Given the description of an element on the screen output the (x, y) to click on. 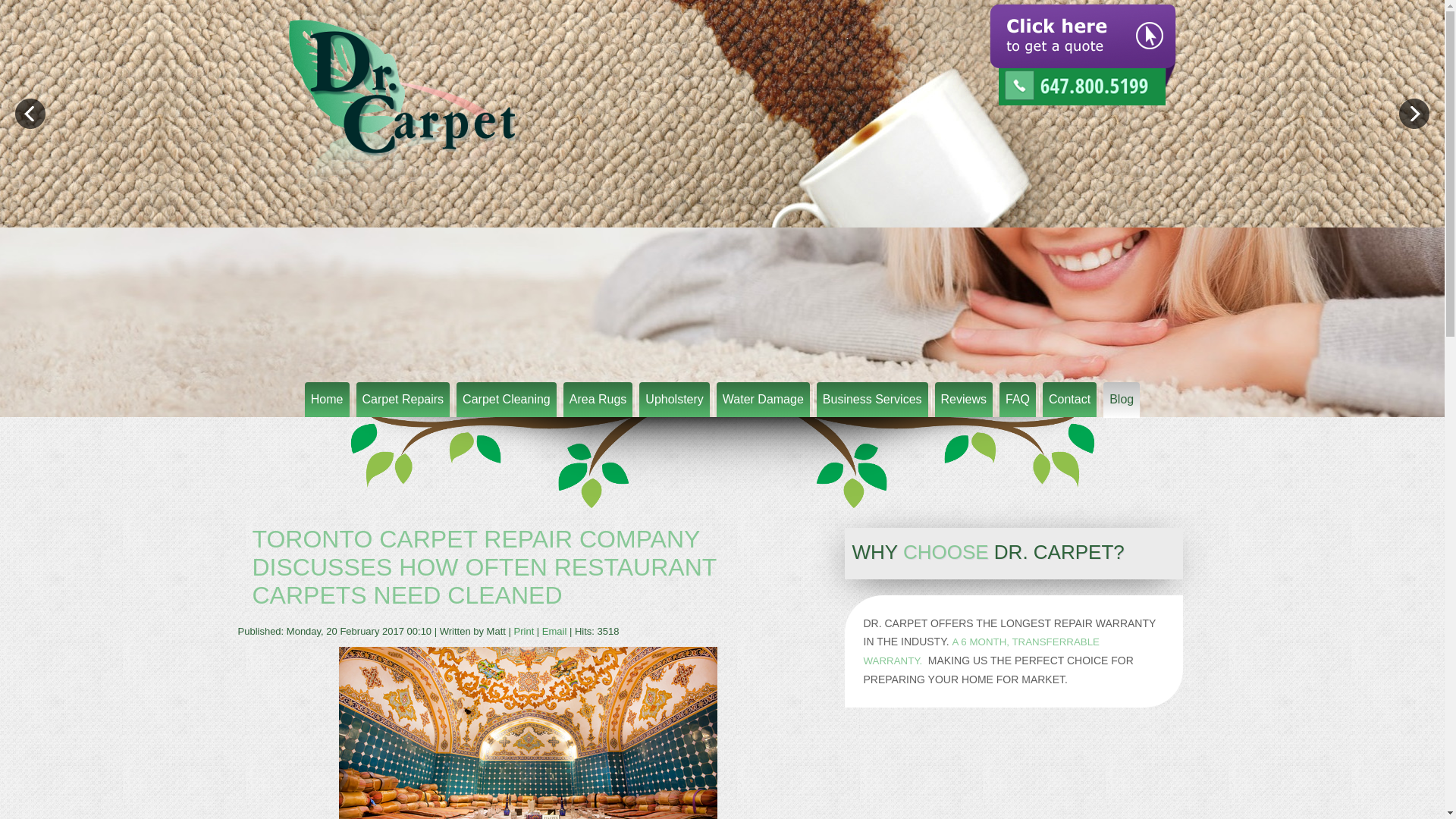
Water Damage (762, 399)
Reviews (963, 399)
Email this link to a friend (555, 631)
Contact (1069, 399)
FAQ (1016, 399)
Home (326, 399)
Carpet Cleaning (506, 399)
Print (525, 631)
Upholstery (674, 399)
Area Rugs (598, 399)
Email (555, 631)
Carpet Repairs (402, 399)
Business Services (872, 399)
Blog (1121, 399)
